Given the description of an element on the screen output the (x, y) to click on. 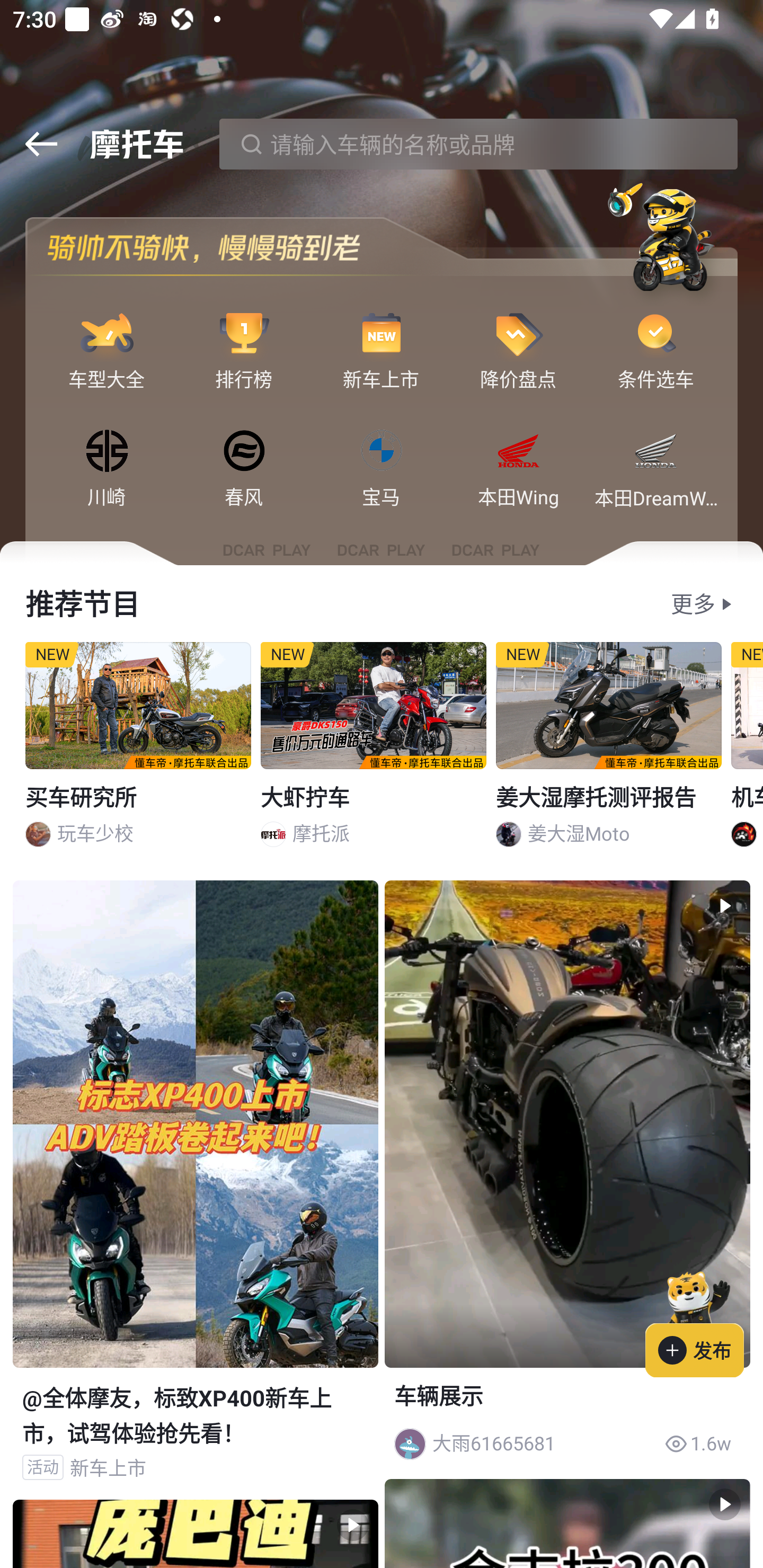
 请输入车辆的名称或品牌 (478, 144)
 (41, 144)
车型大全 (106, 334)
排行榜 (243, 334)
新车上市 (381, 334)
降价盘点 (518, 334)
条件选车 (655, 334)
川崎 (106, 452)
春风 (243, 452)
宝马 (381, 452)
本田Wing (518, 452)
本田DreamWing (655, 452)
更多 (692, 603)
NEW 买车研究所 玩车少校 (138, 750)
NEW 大虾拧车 摩托派 (373, 750)
NEW 姜大湿摩托测评报告 姜大湿Moto (608, 750)
@全体摩友，标致XP400新车上市，试驾体验抢先看！ 活动 新车上市 (195, 1189)
  车辆展示 大雨61665681 < >1.6w (567, 1175)
发布 (704, 1320)
